Given the description of an element on the screen output the (x, y) to click on. 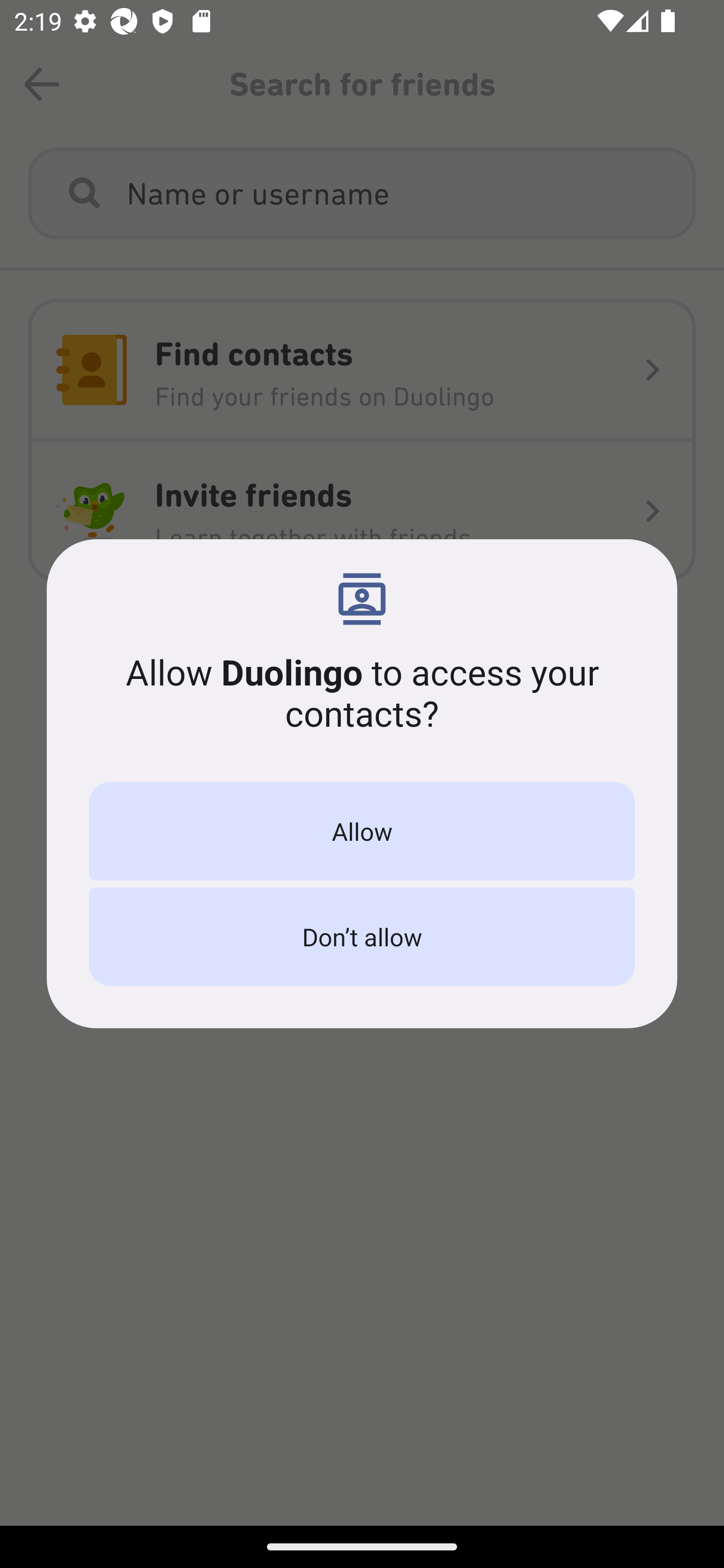
Allow (361, 831)
Don’t allow (361, 936)
